Given the description of an element on the screen output the (x, y) to click on. 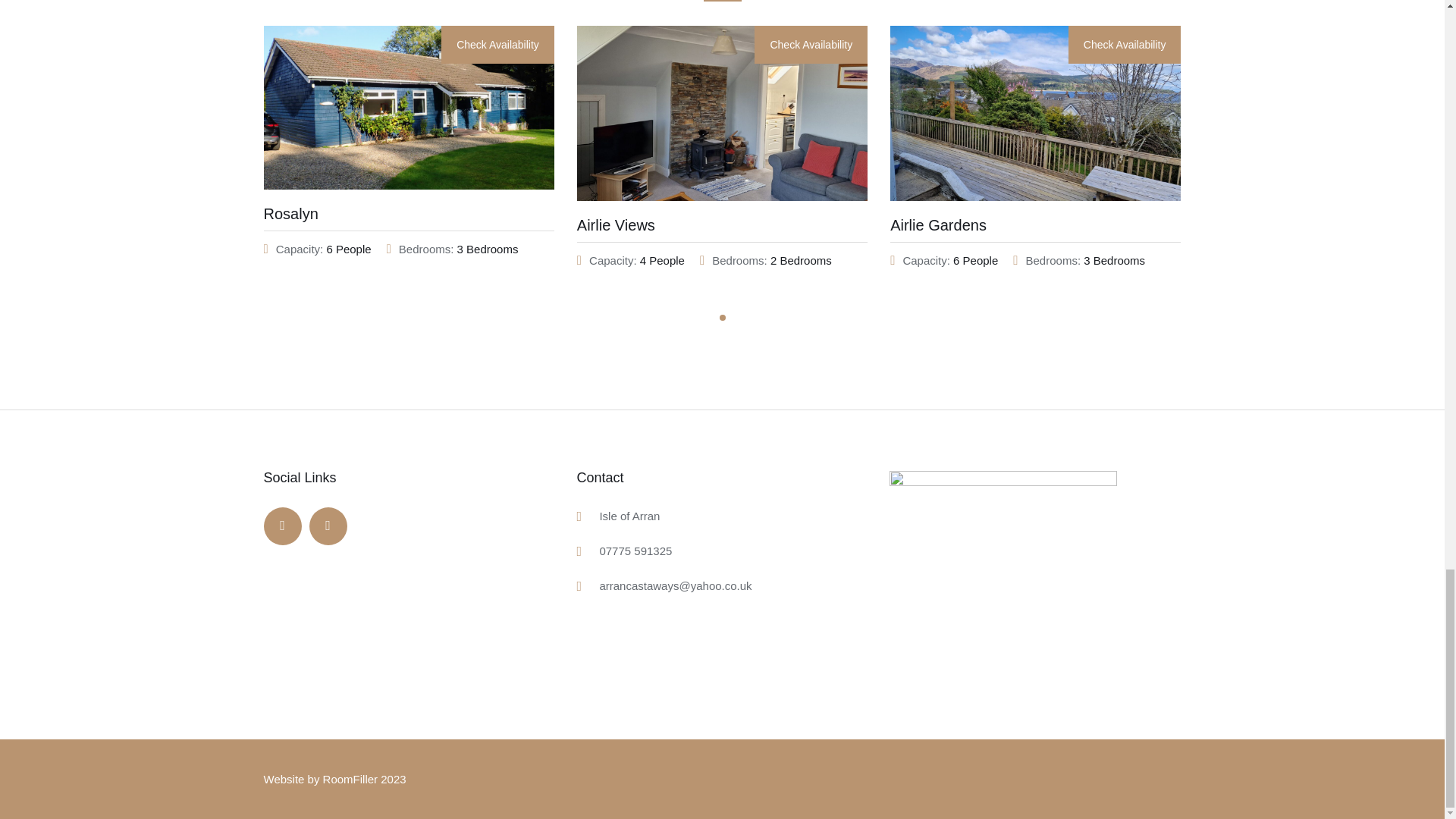
Rosalyn (290, 213)
Airlie Views (615, 225)
Airlie Gardens (938, 225)
